Given the description of an element on the screen output the (x, y) to click on. 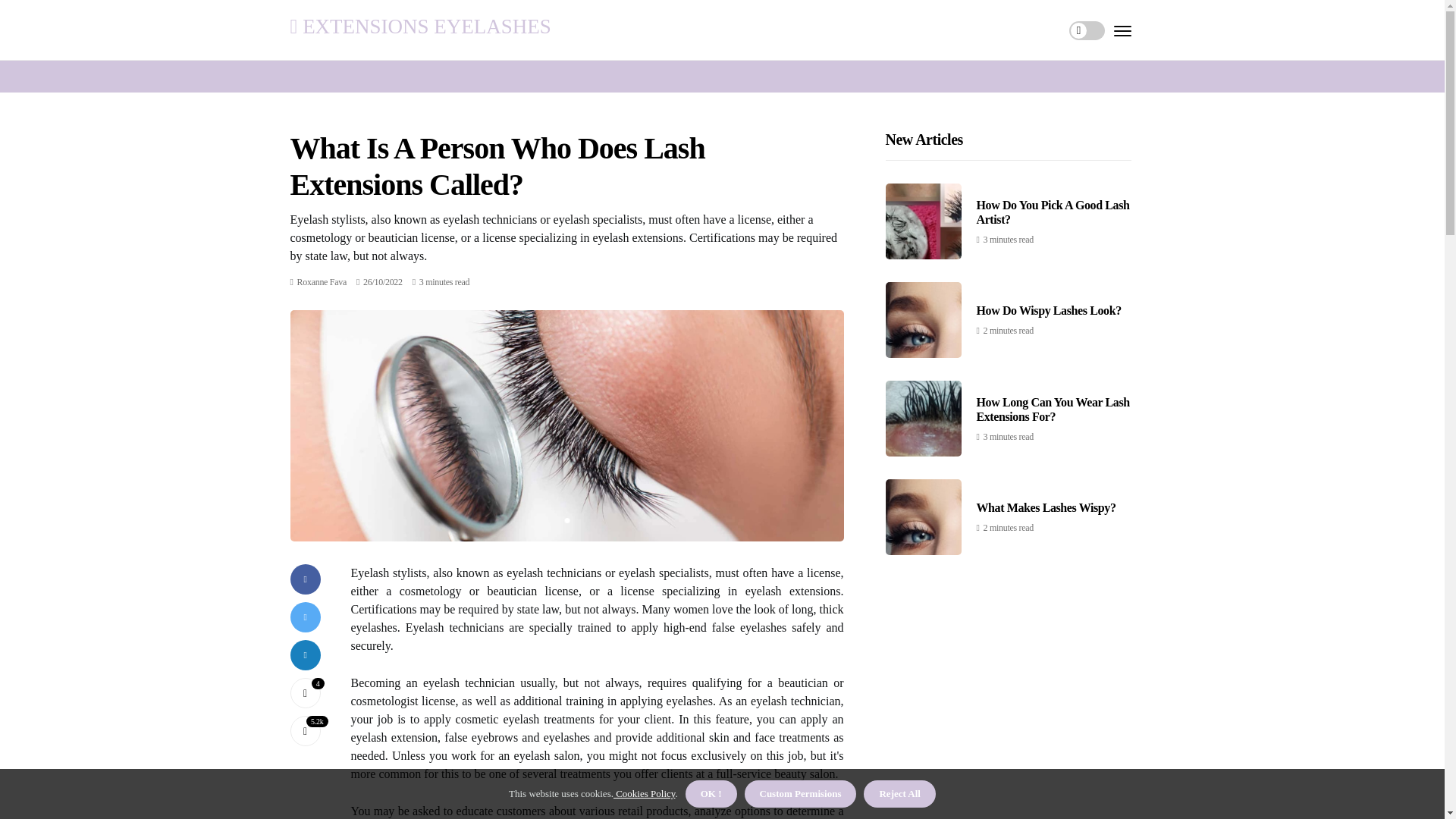
What Makes Lashes Wispy? (1046, 507)
How Do You Pick A Good Lash Artist? (1052, 212)
How Long Can You Wear Lash Extensions For? (1052, 409)
EXTENSIONS EYELASHES (419, 26)
4 (304, 693)
Like (304, 693)
How Do Wispy Lashes Look? (1048, 309)
Roxanne Fava (321, 281)
Posts by Roxanne Fava (321, 281)
